Given the description of an element on the screen output the (x, y) to click on. 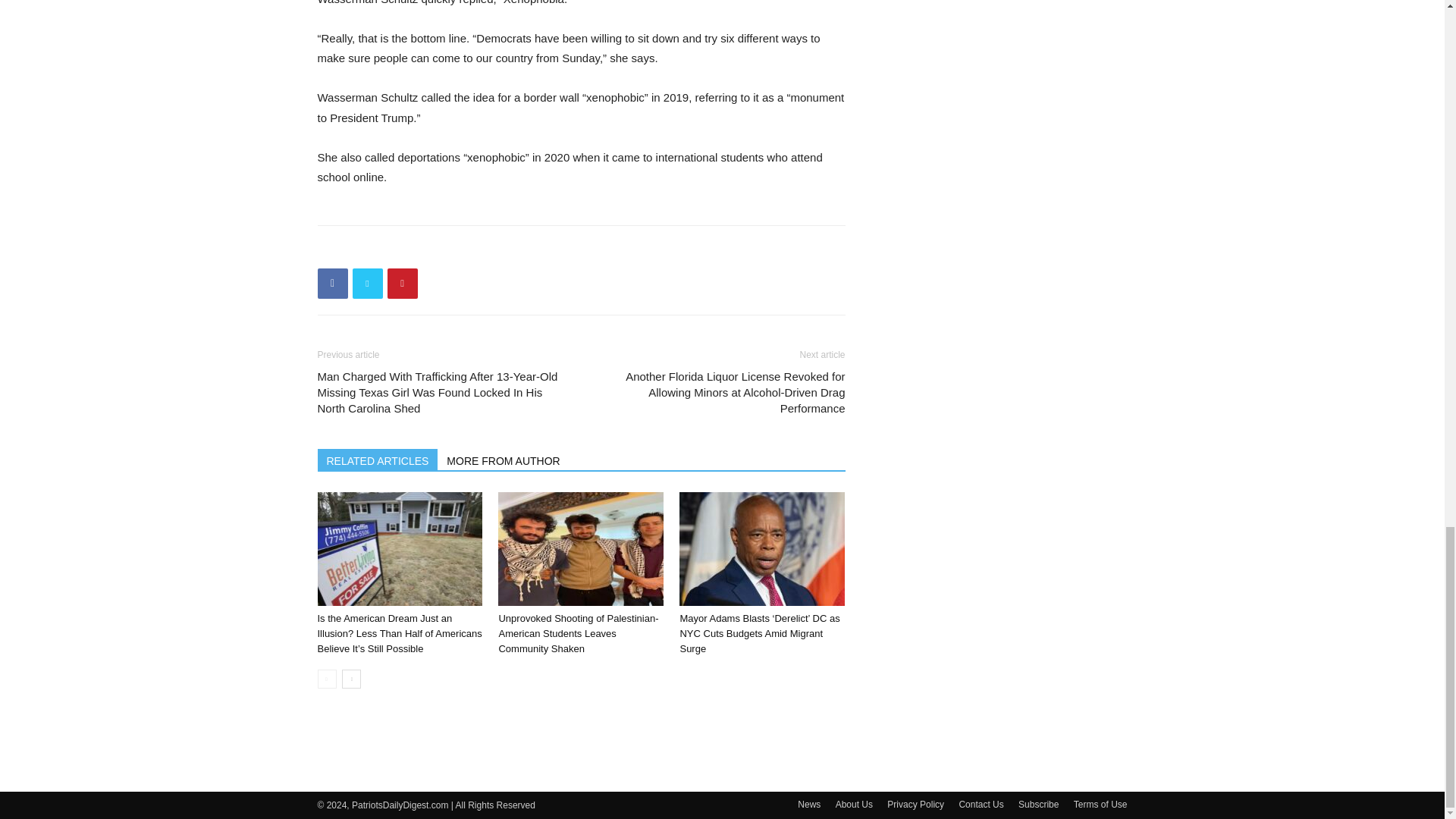
RELATED ARTICLES (377, 459)
